Given the description of an element on the screen output the (x, y) to click on. 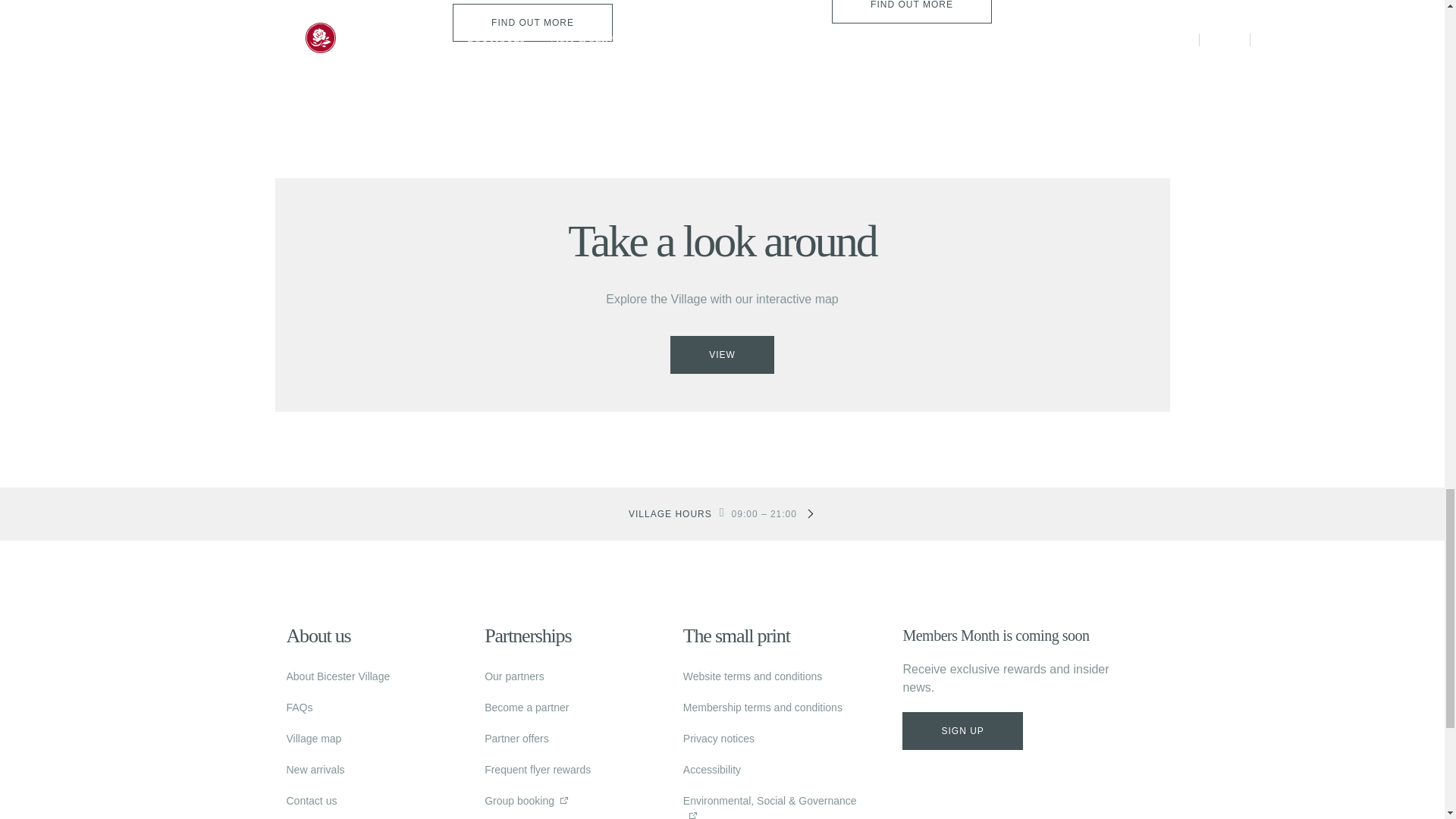
Our partners (514, 676)
Partner offers (516, 738)
FIND OUT MORE (532, 22)
New arrivals (315, 769)
About Bicester Village (338, 676)
Contact us (311, 800)
VIEW (721, 354)
FAQs (299, 707)
Group booking (519, 800)
FIND OUT MORE (911, 11)
